Given the description of an element on the screen output the (x, y) to click on. 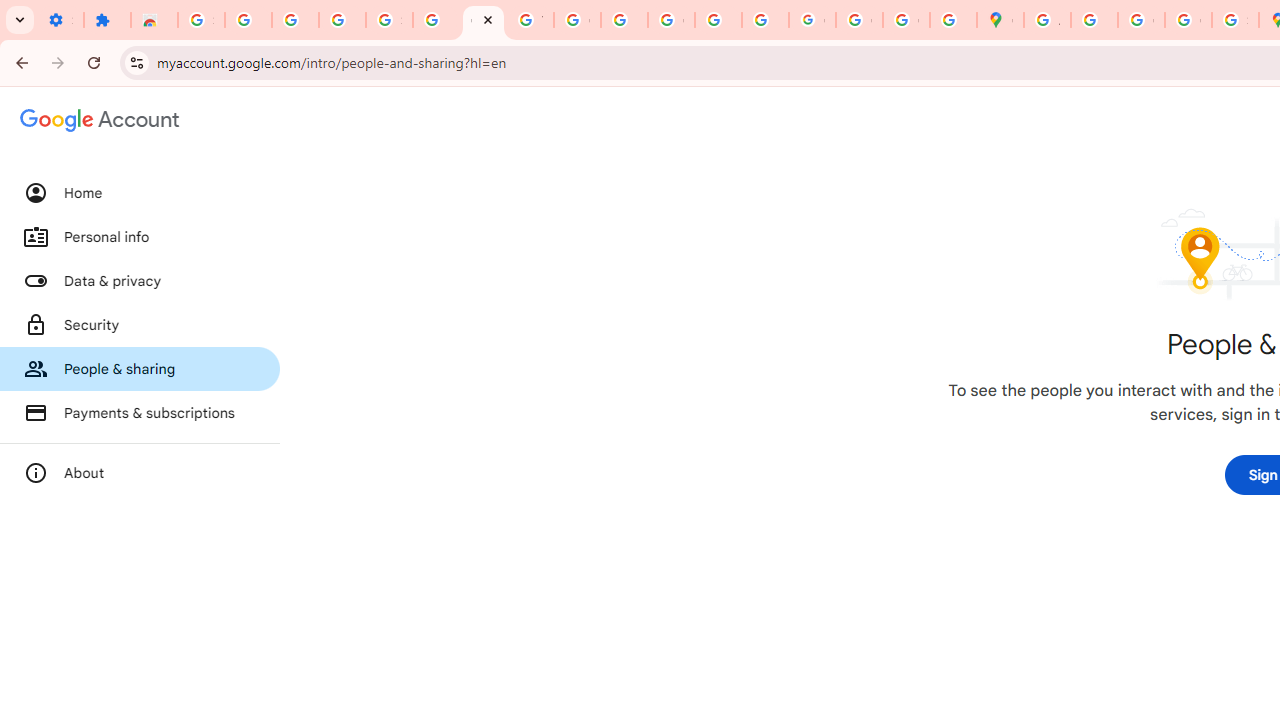
Google Account settings (100, 120)
Data & privacy (140, 281)
https://scholar.google.com/ (623, 20)
Google Account (482, 20)
More information about the Google Account (140, 472)
Sign in - Google Accounts (389, 20)
Sign in - Google Accounts (201, 20)
